Given the description of an element on the screen output the (x, y) to click on. 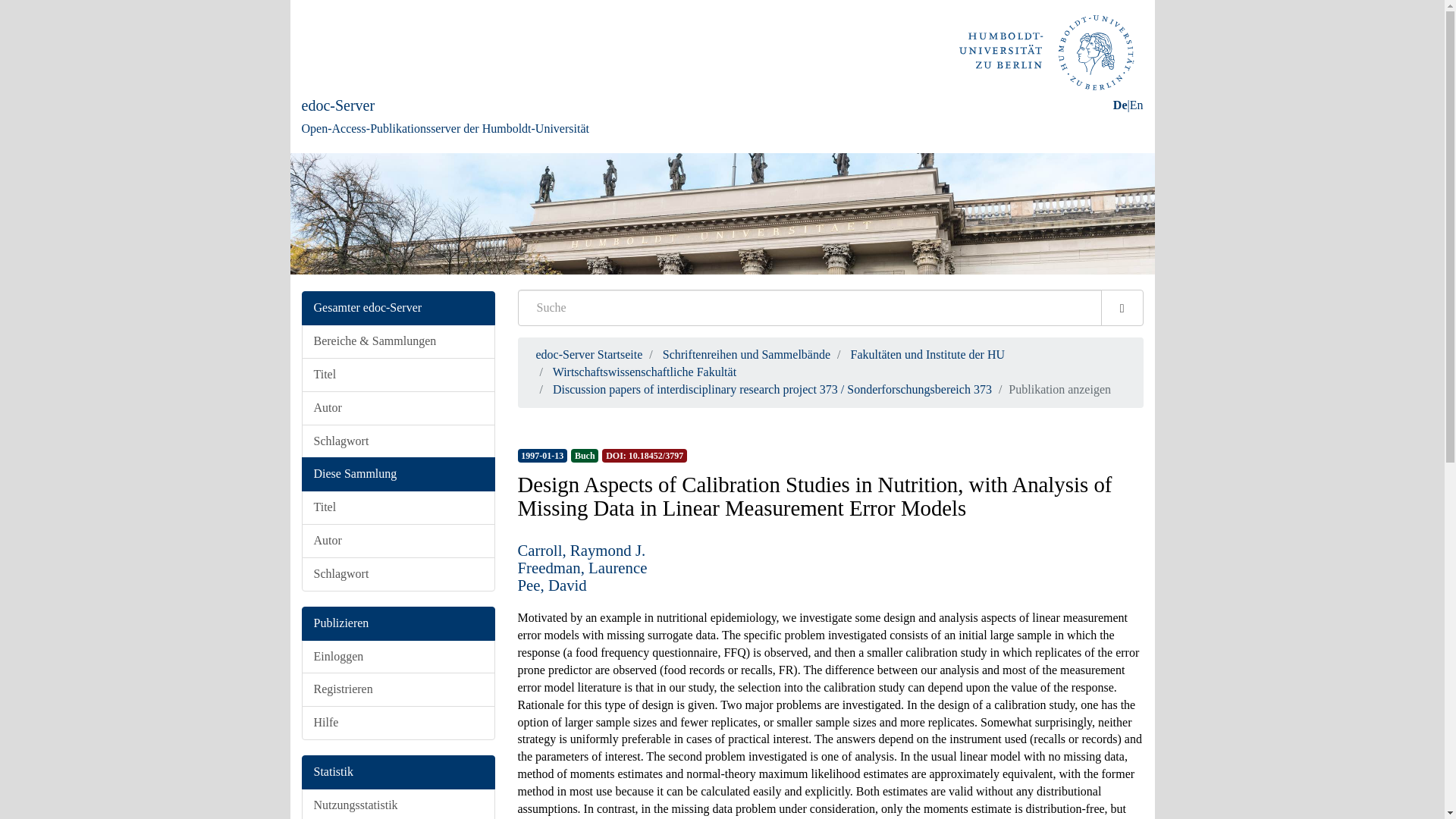
Einloggen (398, 656)
Autor (398, 408)
Statistik (398, 772)
Los (1121, 307)
Titel (398, 374)
Autor (398, 540)
Gesamter edoc-Server (398, 308)
Schlagwort (398, 574)
Registrieren (398, 689)
Schlagwort (398, 441)
